Given the description of an element on the screen output the (x, y) to click on. 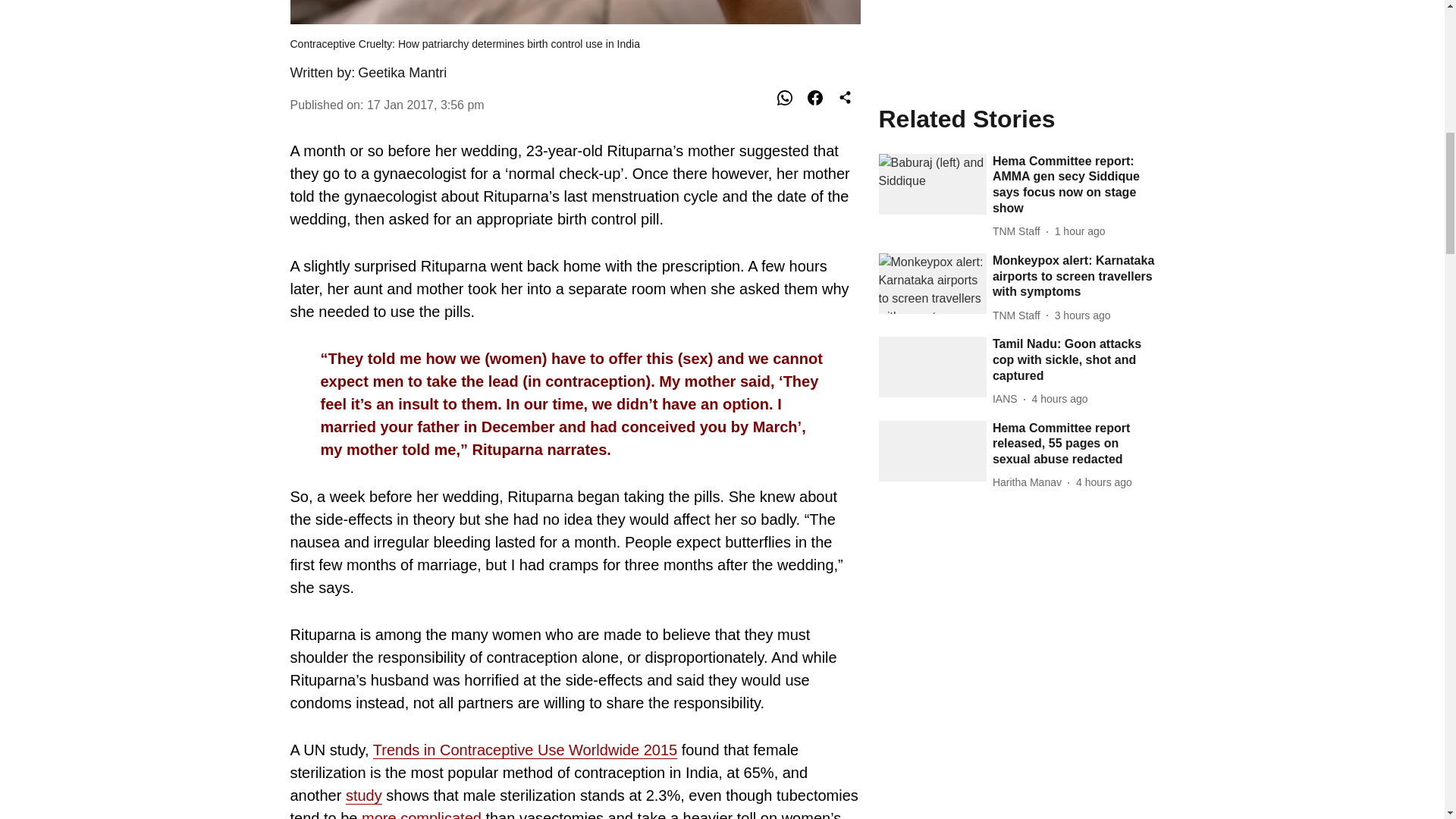
more complicated (421, 814)
2024-08-20 03:23 (1059, 7)
Geetika Mantri (402, 72)
study (363, 795)
Trends in Contraceptive Use Worldwide 2015 (524, 750)
2017-01-17 07:56 (425, 104)
2024-08-20 03:00 (1103, 91)
